Given the description of an element on the screen output the (x, y) to click on. 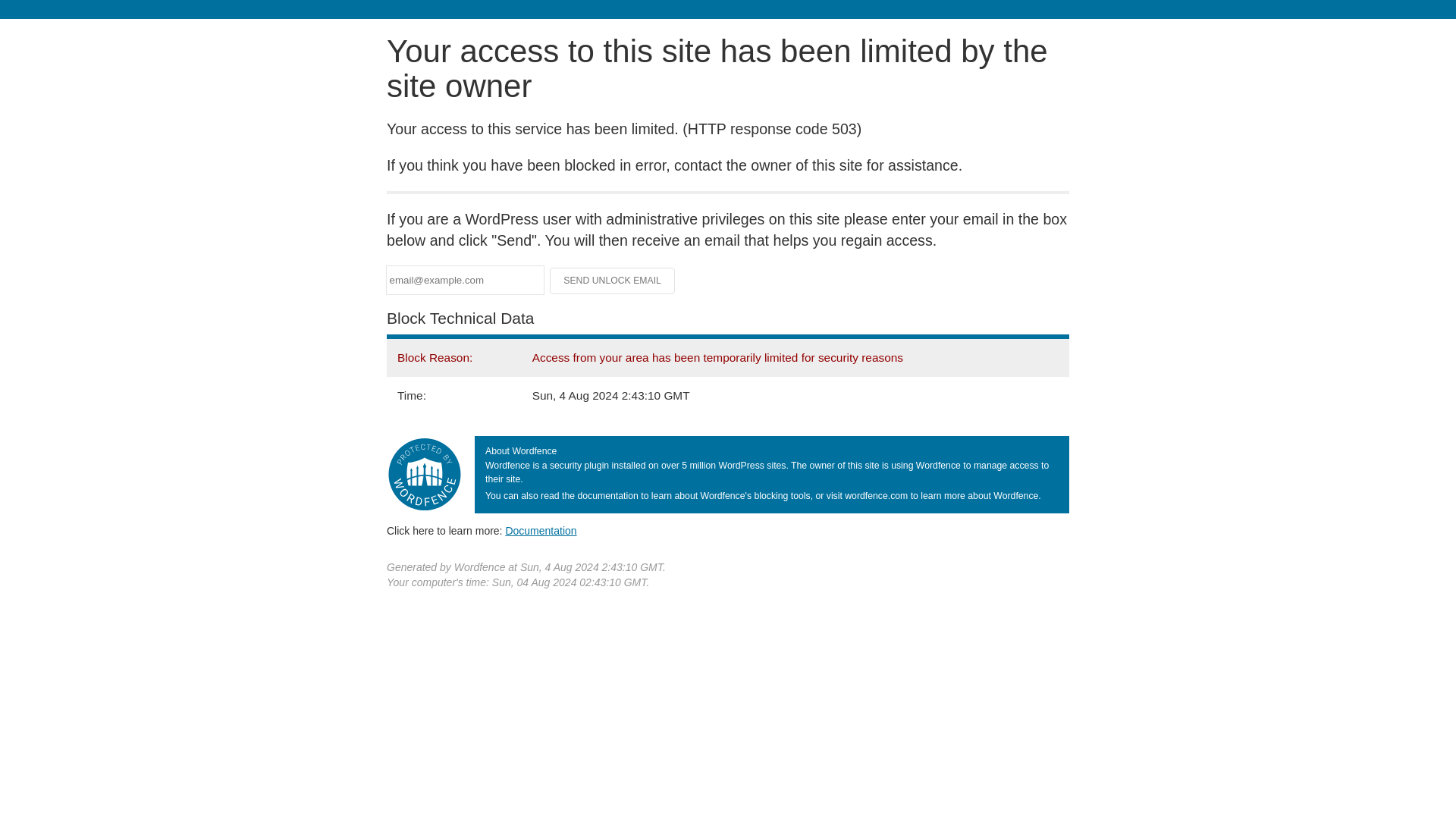
Send Unlock Email (612, 280)
Send Unlock Email (612, 280)
